Given the description of an element on the screen output the (x, y) to click on. 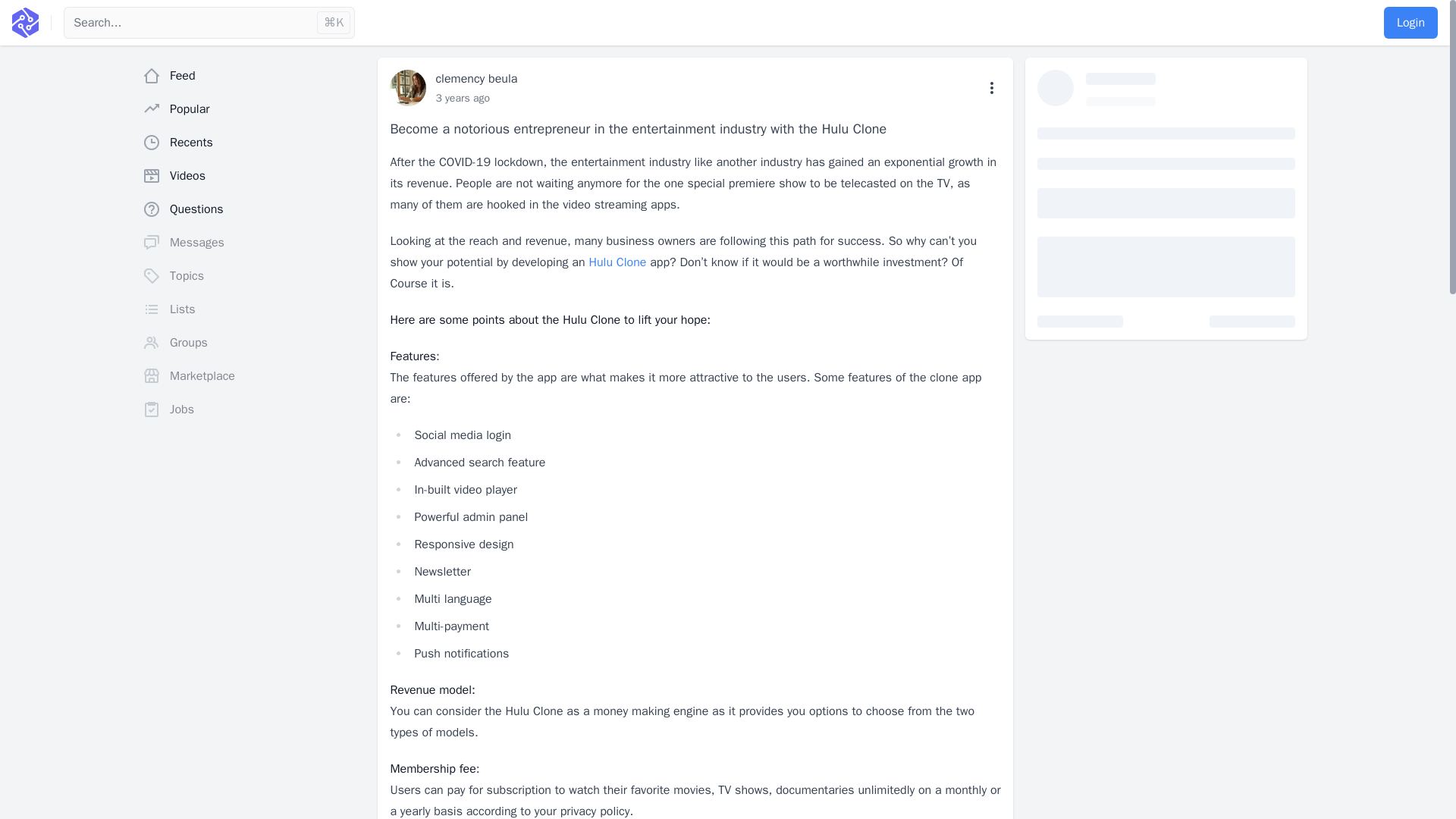
Popular (253, 109)
Recents (253, 142)
clemency beula (475, 78)
Login (1411, 22)
Feed (253, 75)
Open options (991, 87)
Morioh (25, 22)
Home Page (25, 22)
Questions (253, 209)
3 years ago (462, 97)
Hulu Clone (617, 262)
Videos (253, 175)
Hulu Clone (617, 262)
